Given the description of an element on the screen output the (x, y) to click on. 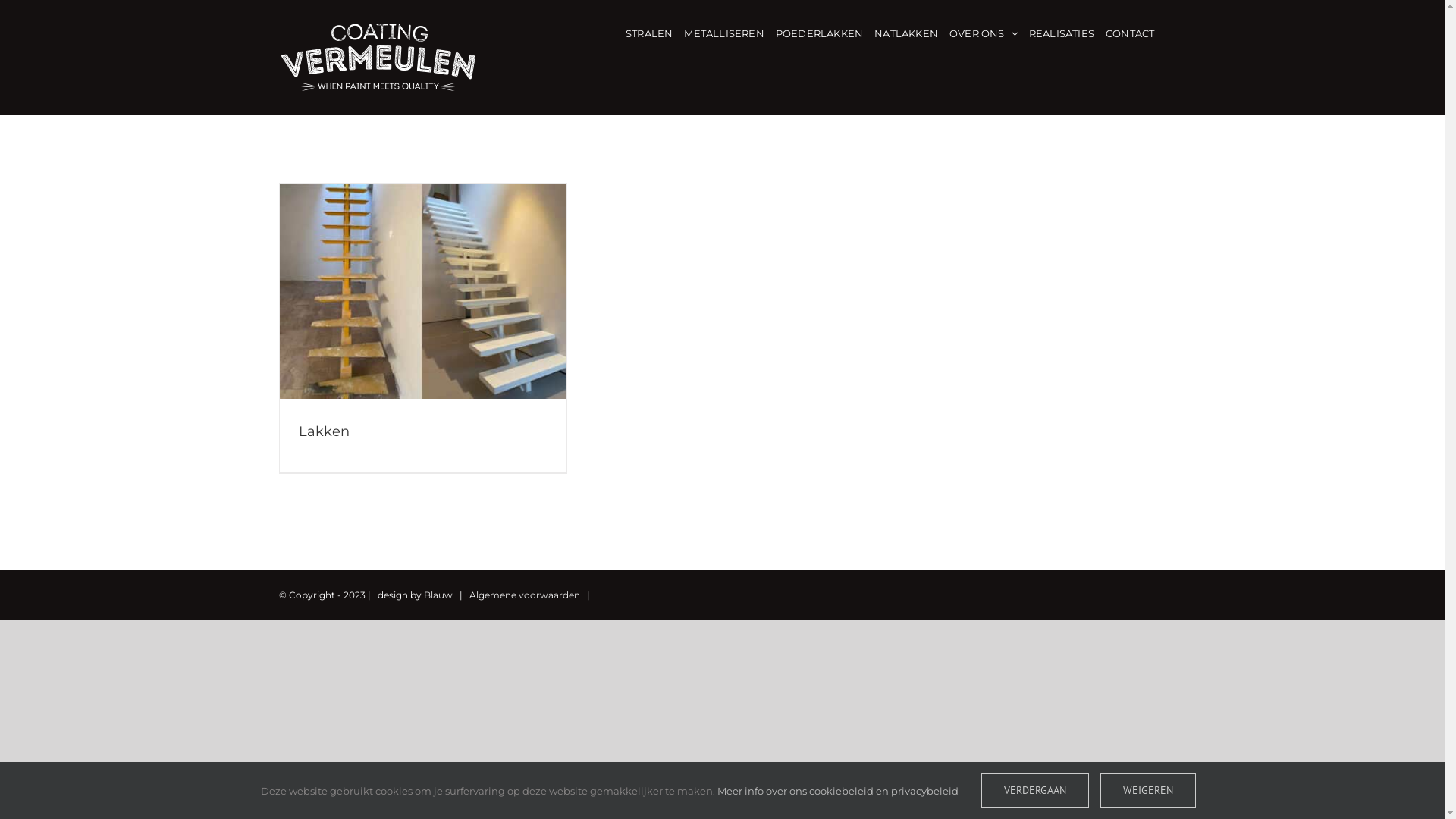
Algemene voorwaarden Element type: text (523, 593)
REALISATIES Element type: text (1061, 31)
CONTACT Element type: text (1129, 31)
STRALEN Element type: text (648, 31)
POEDERLAKKEN Element type: text (818, 31)
Lakken Element type: text (323, 431)
VERDERGAAN Element type: text (1034, 790)
WEIGEREN Element type: text (1147, 790)
Meer info over ons cookiebeleid en privacybeleid Element type: text (837, 790)
NATLAKKEN Element type: text (906, 31)
OVER ONS Element type: text (983, 31)
METALLISEREN Element type: text (723, 31)
Blauw Element type: text (437, 593)
